Given the description of an element on the screen output the (x, y) to click on. 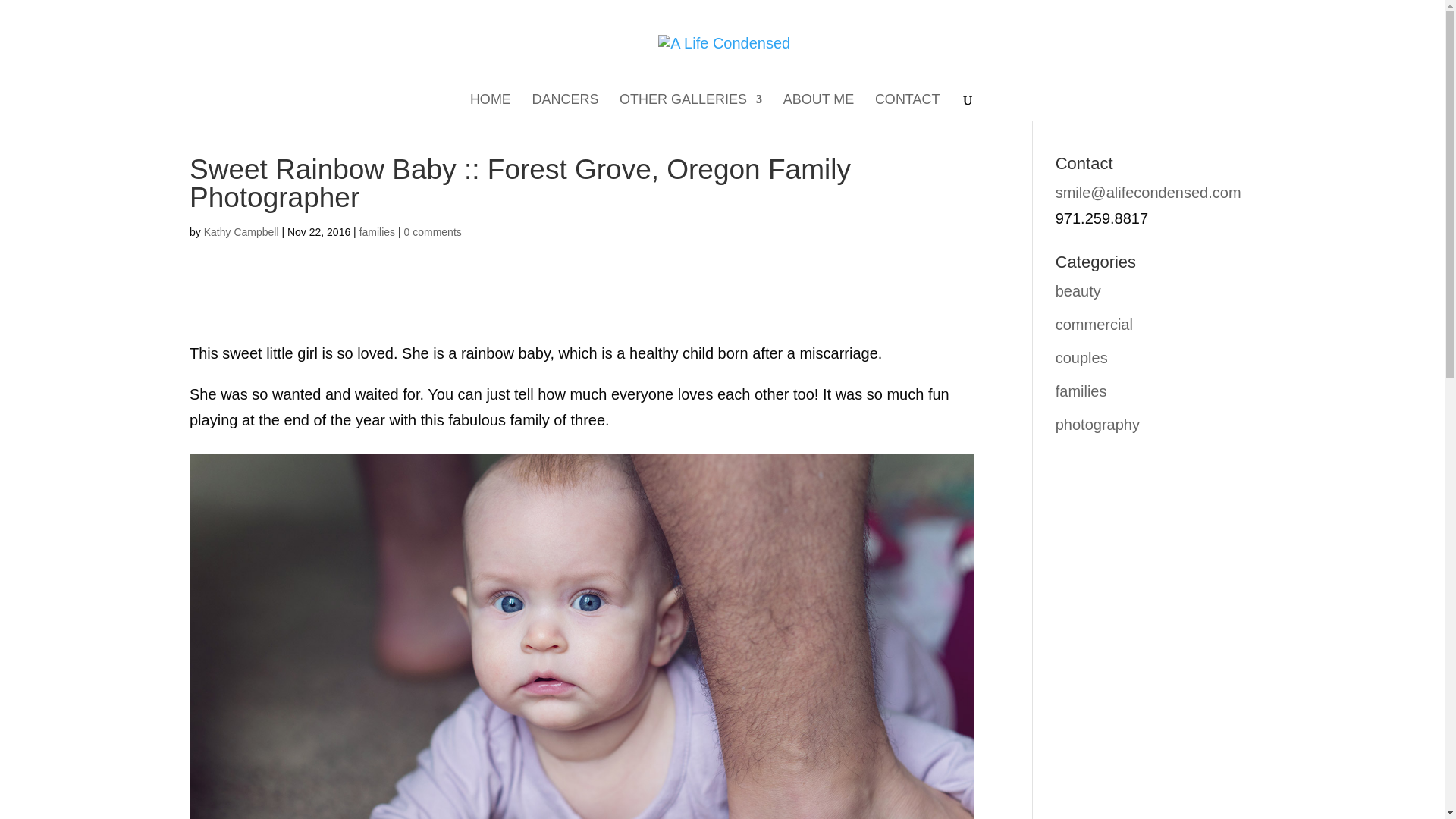
OTHER GALLERIES (690, 107)
HOME (490, 107)
DANCERS (564, 107)
CONTACT (907, 107)
families (1080, 391)
families (376, 232)
Posts by Kathy Campbell (241, 232)
couples (1081, 357)
commercial (1093, 324)
ABOUT ME (818, 107)
